Given the description of an element on the screen output the (x, y) to click on. 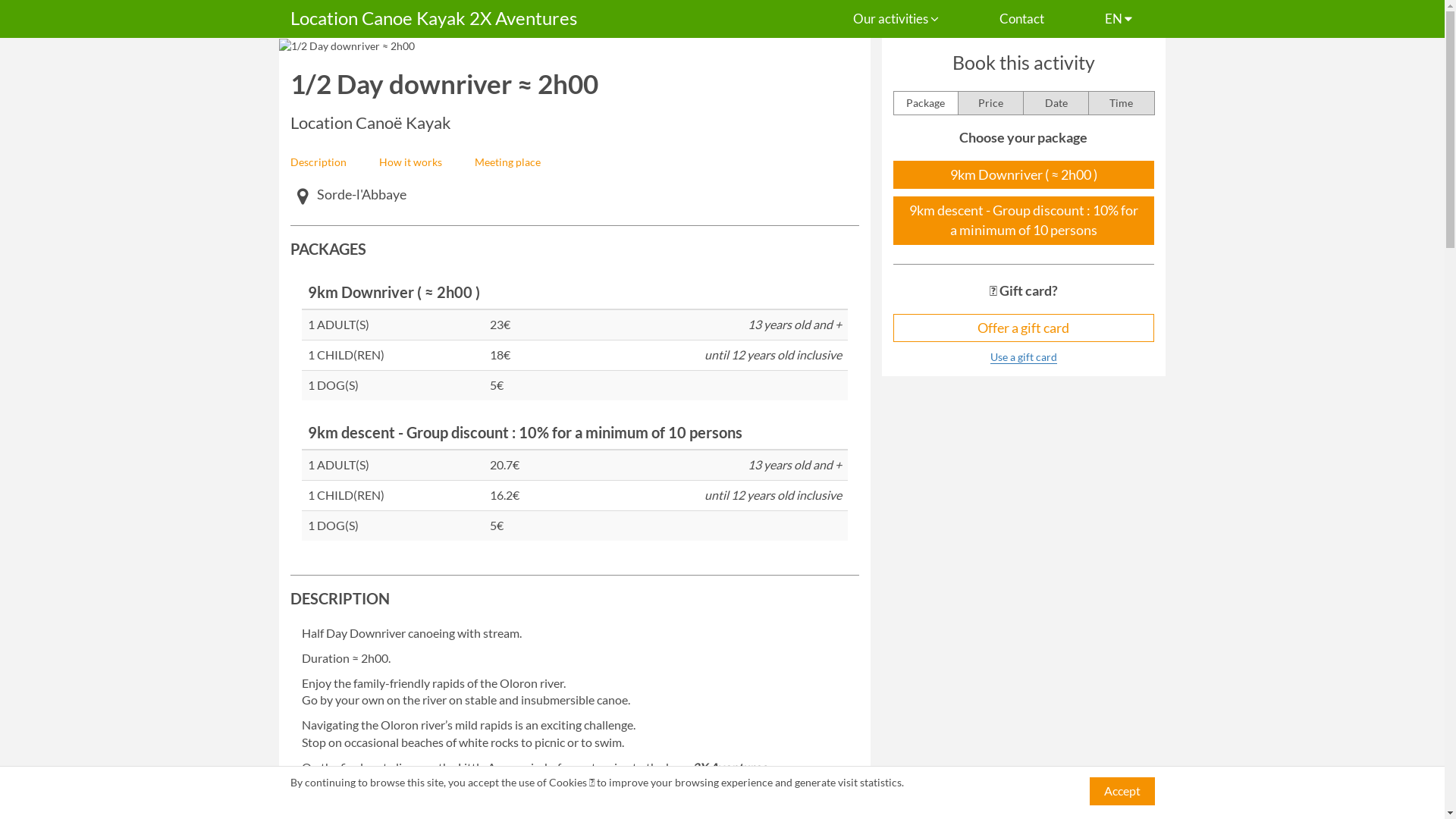
Use a gift card Element type: text (1023, 357)
Offer a gift card Element type: text (1023, 327)
Location Canoe Kayak 2X Aventures Element type: text (433, 18)
EN Element type: text (1118, 18)
How it works Element type: text (409, 162)
Our activities Element type: text (895, 18)
Meeting place Element type: text (506, 162)
Accept Element type: text (1121, 791)
Contact Element type: text (1020, 18)
Description Element type: text (318, 162)
